Given the description of an element on the screen output the (x, y) to click on. 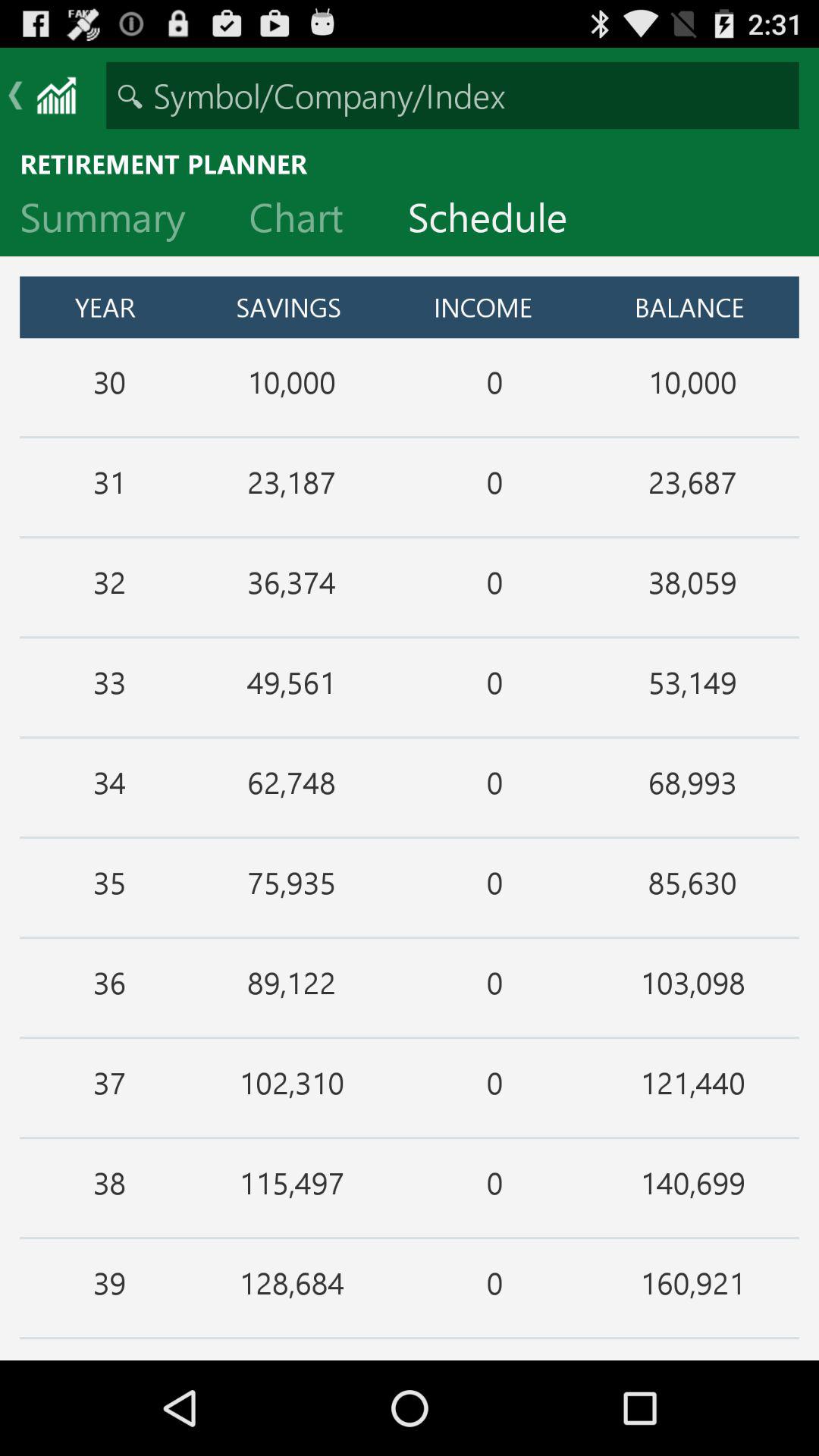
turn on the item next to the summary item (308, 220)
